Given the description of an element on the screen output the (x, y) to click on. 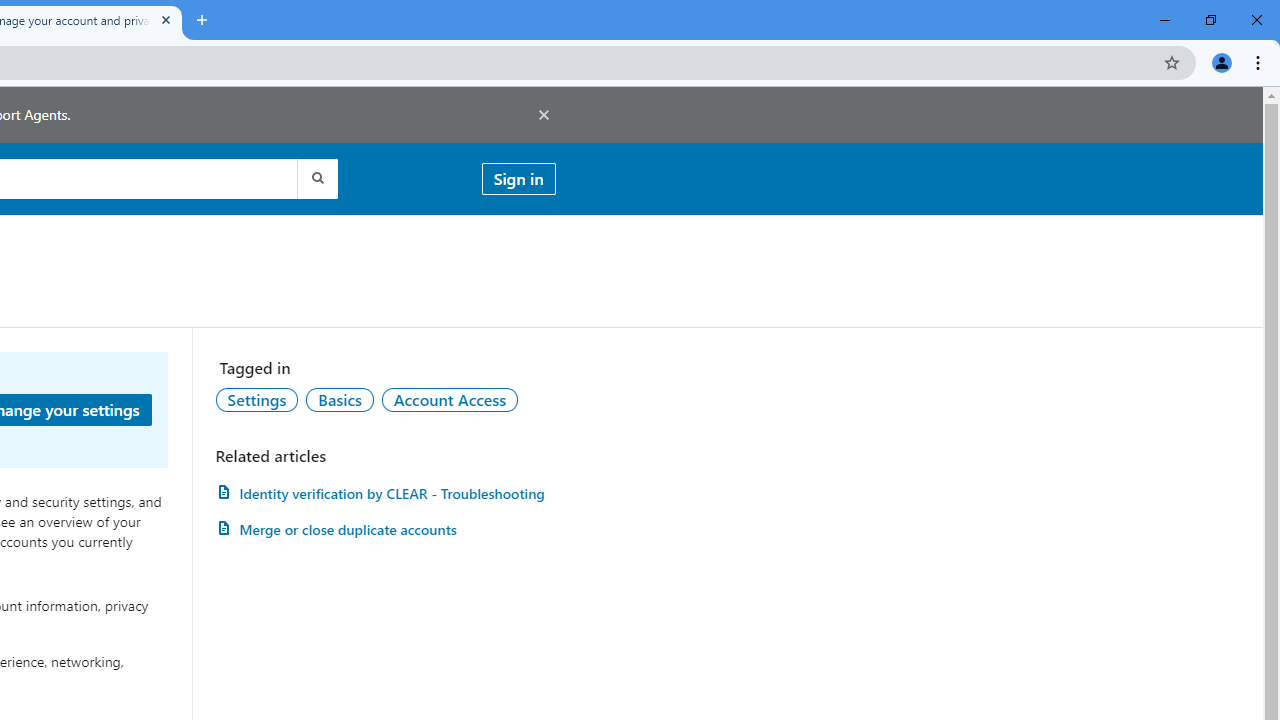
AutomationID: topic-link-a151002 (449, 399)
Identity verification by CLEAR - Troubleshooting (385, 493)
Basics (339, 399)
AutomationID: article-link-a1457505 (385, 493)
AutomationID: topic-link-a149001 (257, 399)
AutomationID: article-link-a1337200 (385, 529)
Account Access (449, 399)
Merge or close duplicate accounts (385, 529)
